Given the description of an element on the screen output the (x, y) to click on. 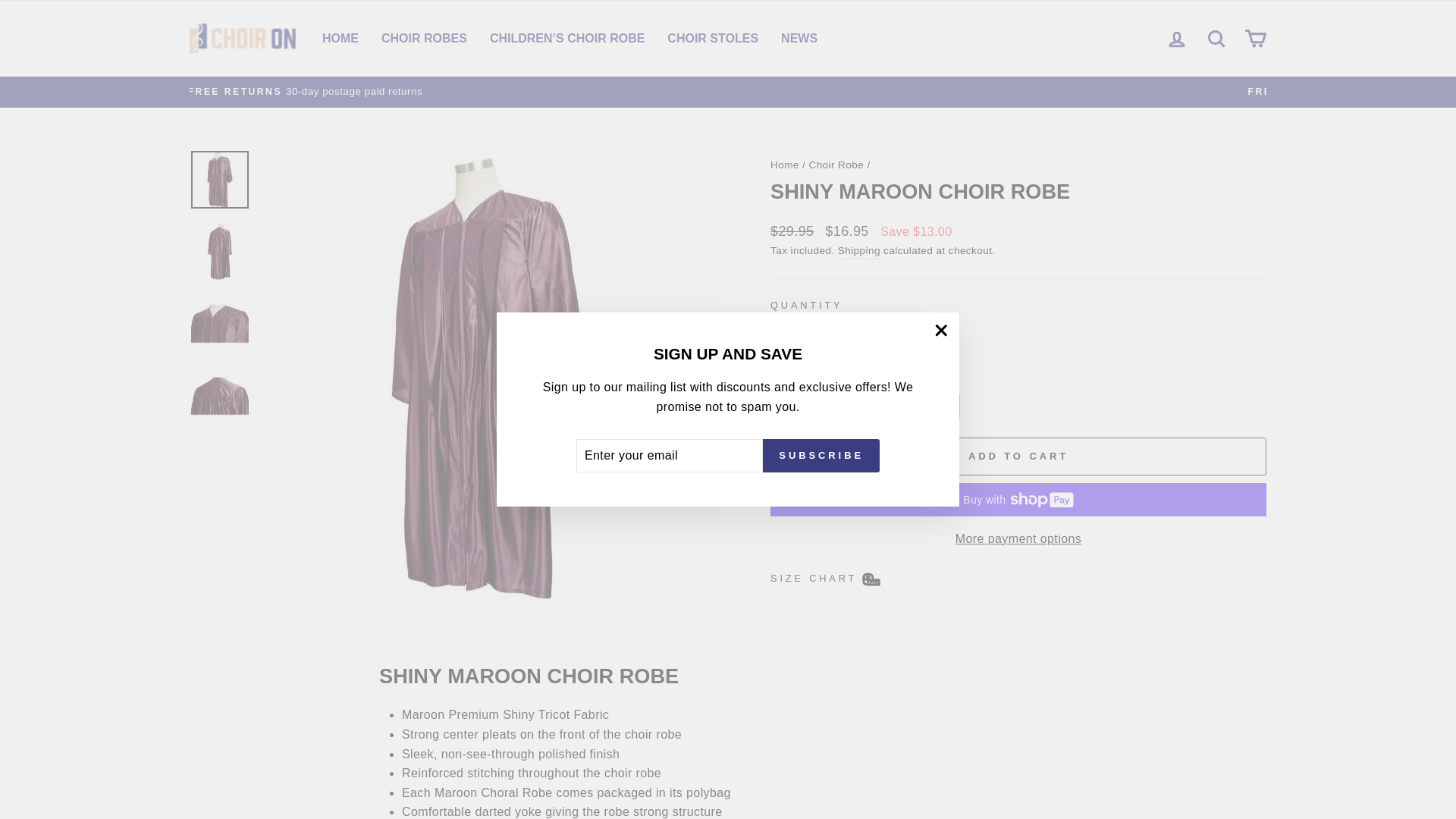
CART (1255, 38)
CHOIR ROBES (424, 37)
ICON-SEARCH (1216, 38)
SUBSCRIBE (820, 455)
Home (784, 164)
1 (800, 335)
ACCOUNT (1177, 38)
Back to the frontpage (784, 164)
HOME (1176, 38)
More payment options (340, 37)
Shipping (1216, 38)
icon-X (1018, 538)
ADD TO CART (859, 251)
